Given the description of an element on the screen output the (x, y) to click on. 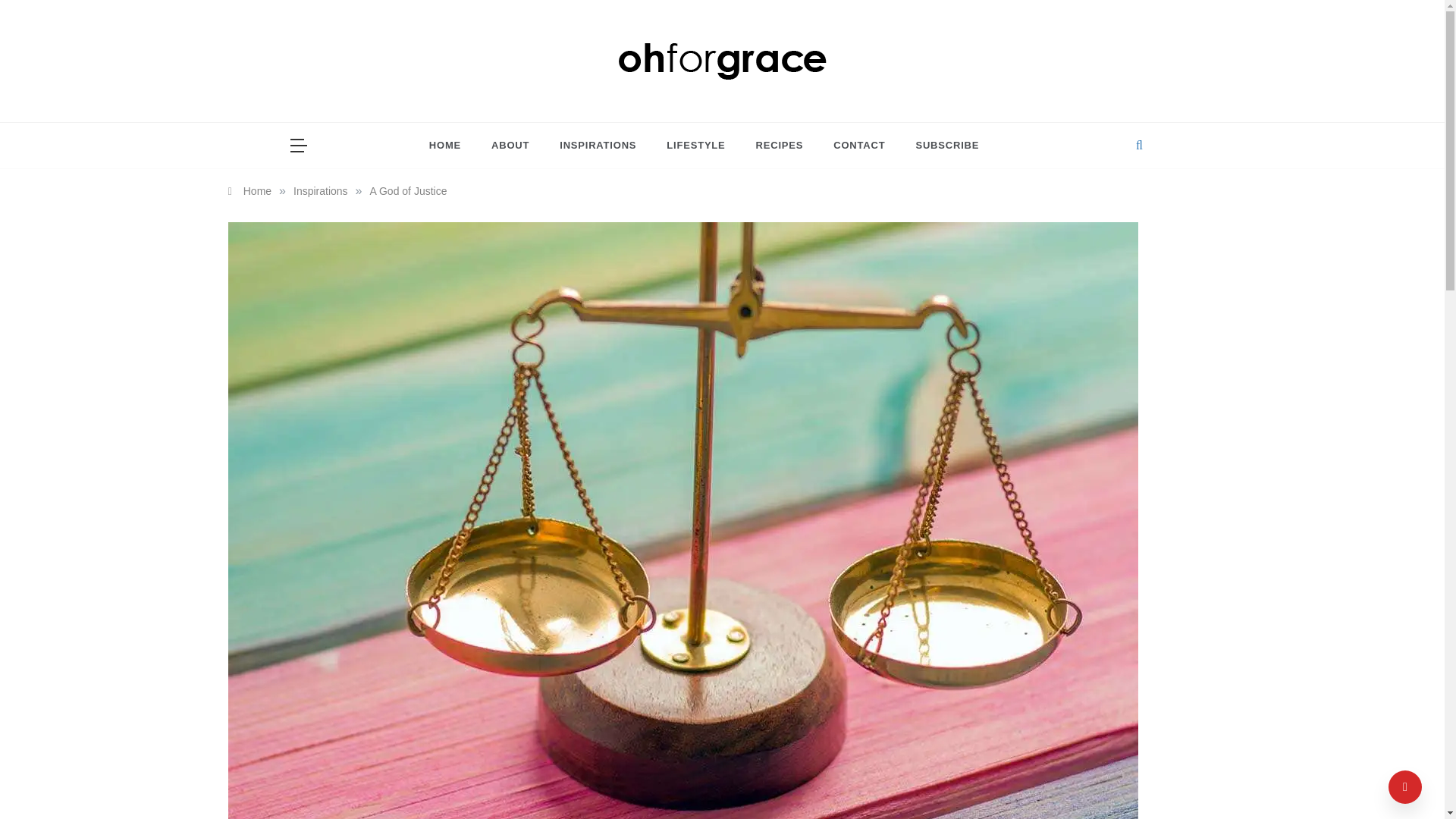
ABOUT (510, 145)
SUBSCRIBE (938, 145)
LIFESTYLE (694, 145)
Inspirations (320, 191)
INSPIRATIONS (597, 145)
CONTACT (858, 145)
A God of Justice (407, 191)
HOME (452, 145)
RECIPES (779, 145)
Home (249, 191)
Go to Top (1405, 786)
